Given the description of an element on the screen output the (x, y) to click on. 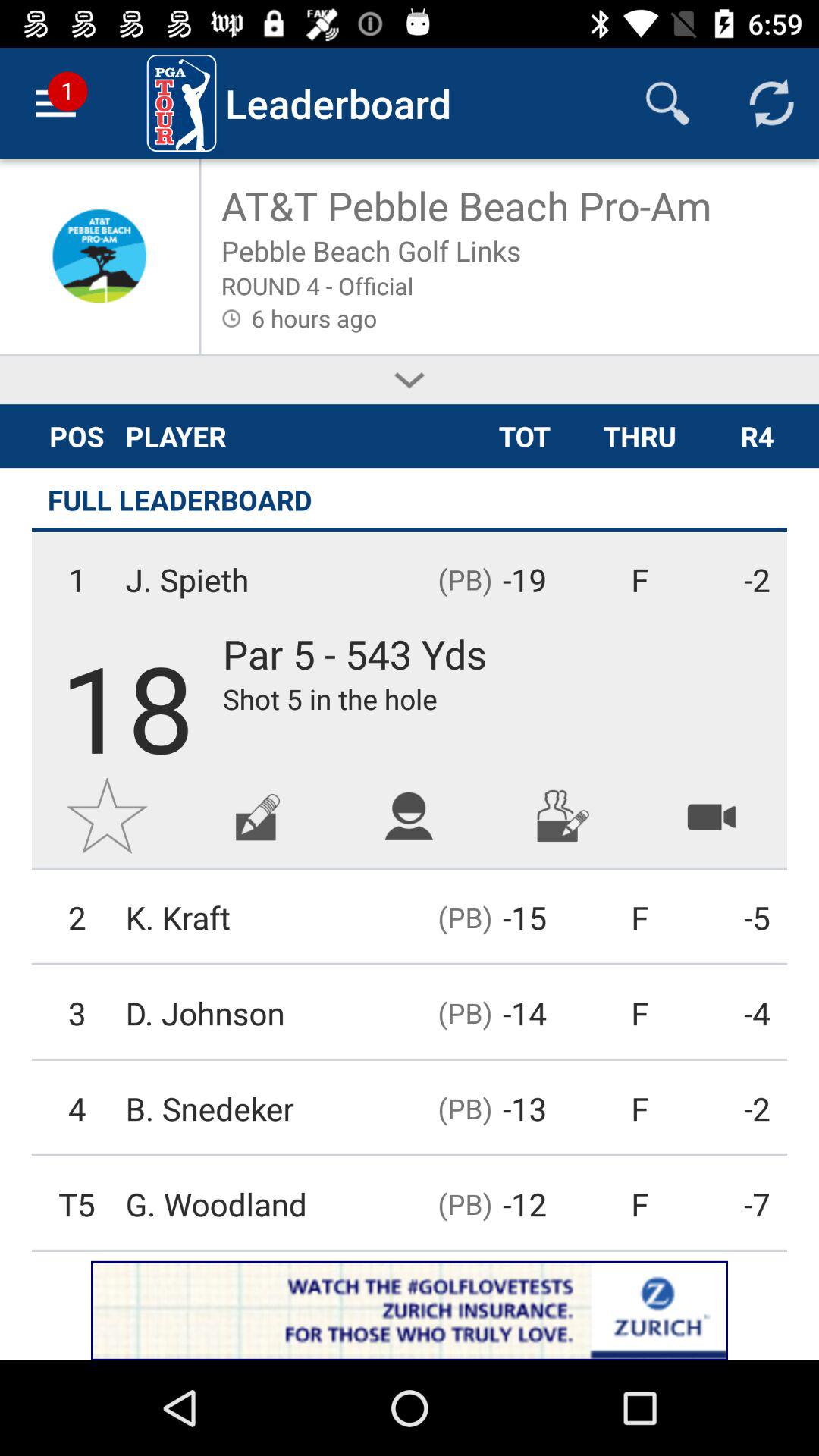
expands description (409, 380)
